Given the description of an element on the screen output the (x, y) to click on. 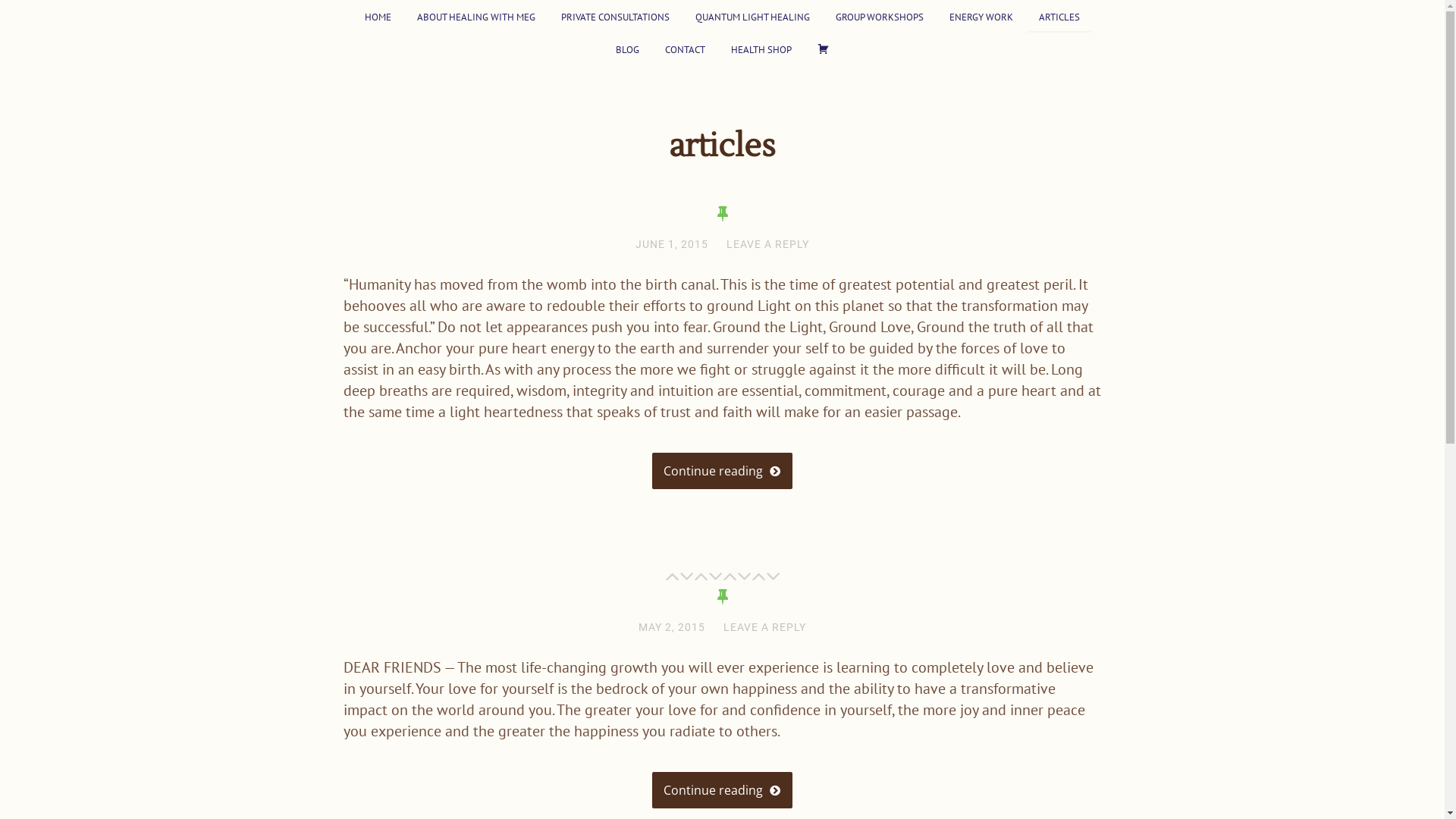
JUNE 1, 2015 Element type: text (671, 244)
CART Element type: text (822, 48)
Continue reading Element type: text (722, 470)
Continue reading Element type: text (722, 789)
LEAVE A REPLY Element type: text (764, 627)
BLOG Element type: text (626, 48)
ABOUT HEALING WITH MEG Element type: text (475, 16)
PRIVATE CONSULTATIONS Element type: text (614, 16)
GROUP WORKSHOPS Element type: text (879, 16)
HOME Element type: text (377, 16)
QUANTUM LIGHT HEALING Element type: text (752, 16)
MAY 2, 2015 Element type: text (671, 627)
HEALTH SHOP Element type: text (760, 48)
LEAVE A REPLY Element type: text (767, 244)
ENERGY WORK Element type: text (981, 16)
ARTICLES Element type: text (1059, 16)
Standard Post Element type: hover (722, 596)
CONTACT Element type: text (684, 48)
Standard Post Element type: hover (722, 213)
